Given the description of an element on the screen output the (x, y) to click on. 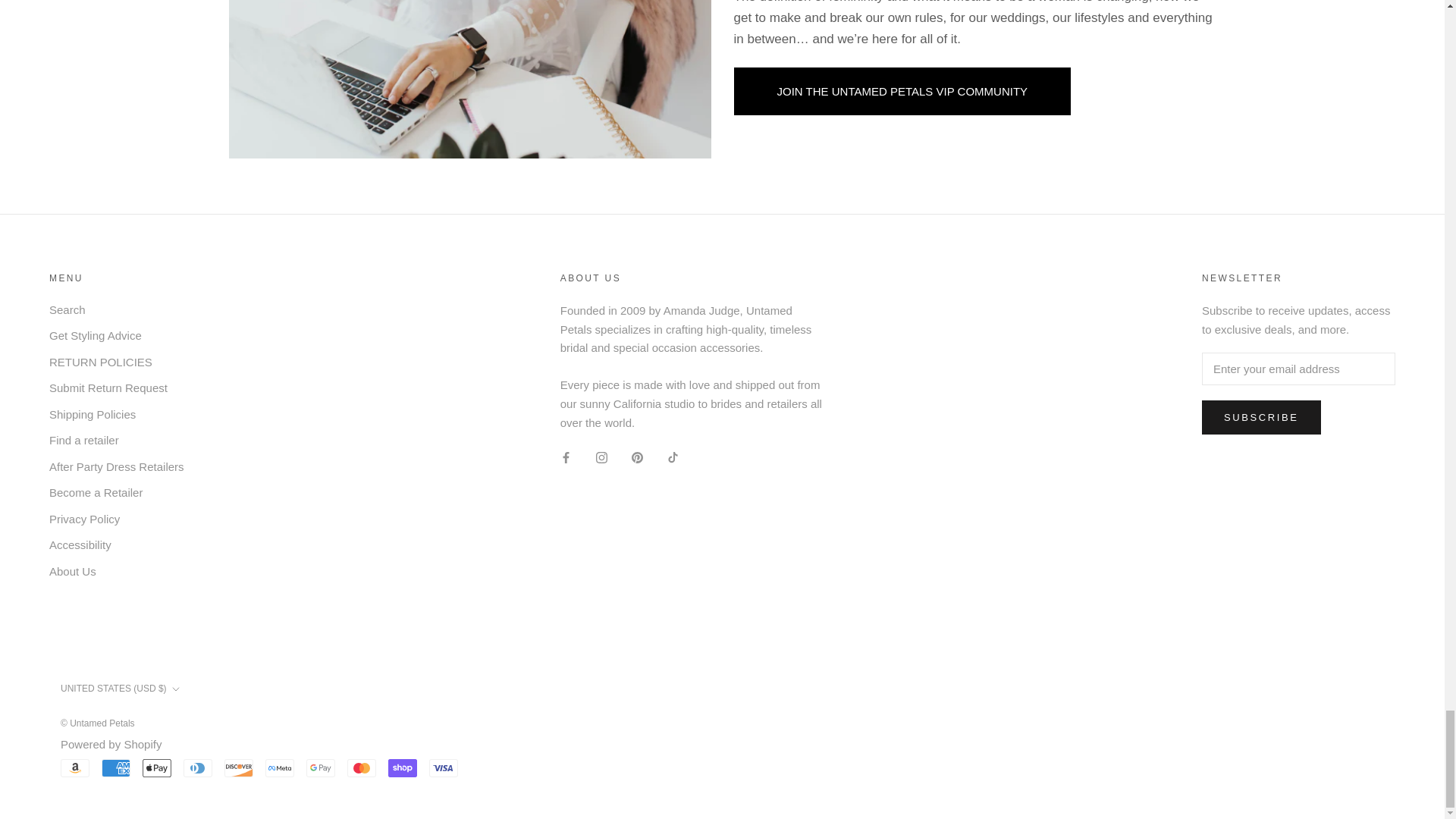
Shop Pay (402, 768)
Amazon (74, 768)
Google Pay (319, 768)
Discover (238, 768)
Mastercard (361, 768)
American Express (116, 768)
Apple Pay (156, 768)
Diners Club (197, 768)
Visa (443, 768)
Meta Pay (279, 768)
